Given the description of an element on the screen output the (x, y) to click on. 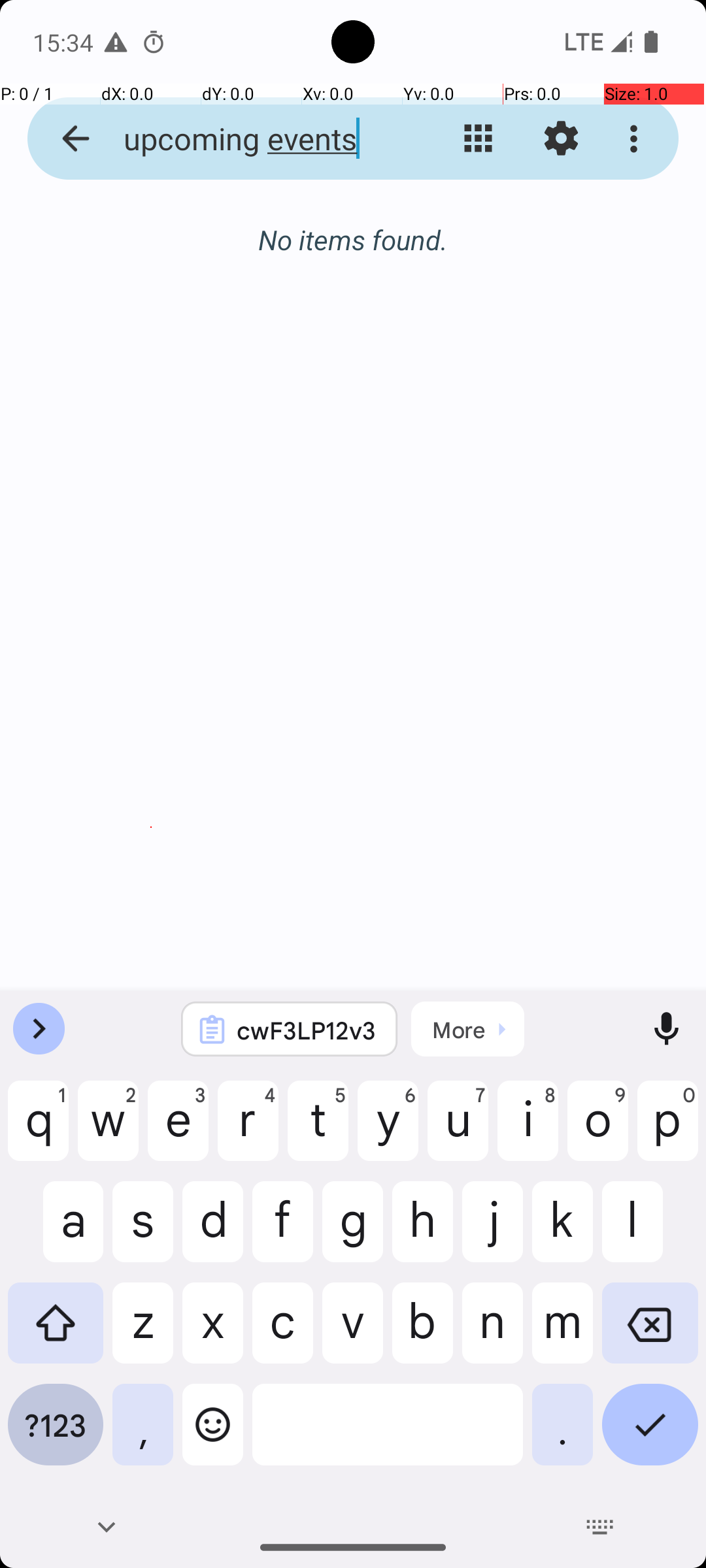
upcoming events Element type: android.widget.EditText (252, 138)
October Element type: android.widget.TextView (352, 239)
cwF3LP12v3 Element type: android.widget.TextView (306, 1029)
